Given the description of an element on the screen output the (x, y) to click on. 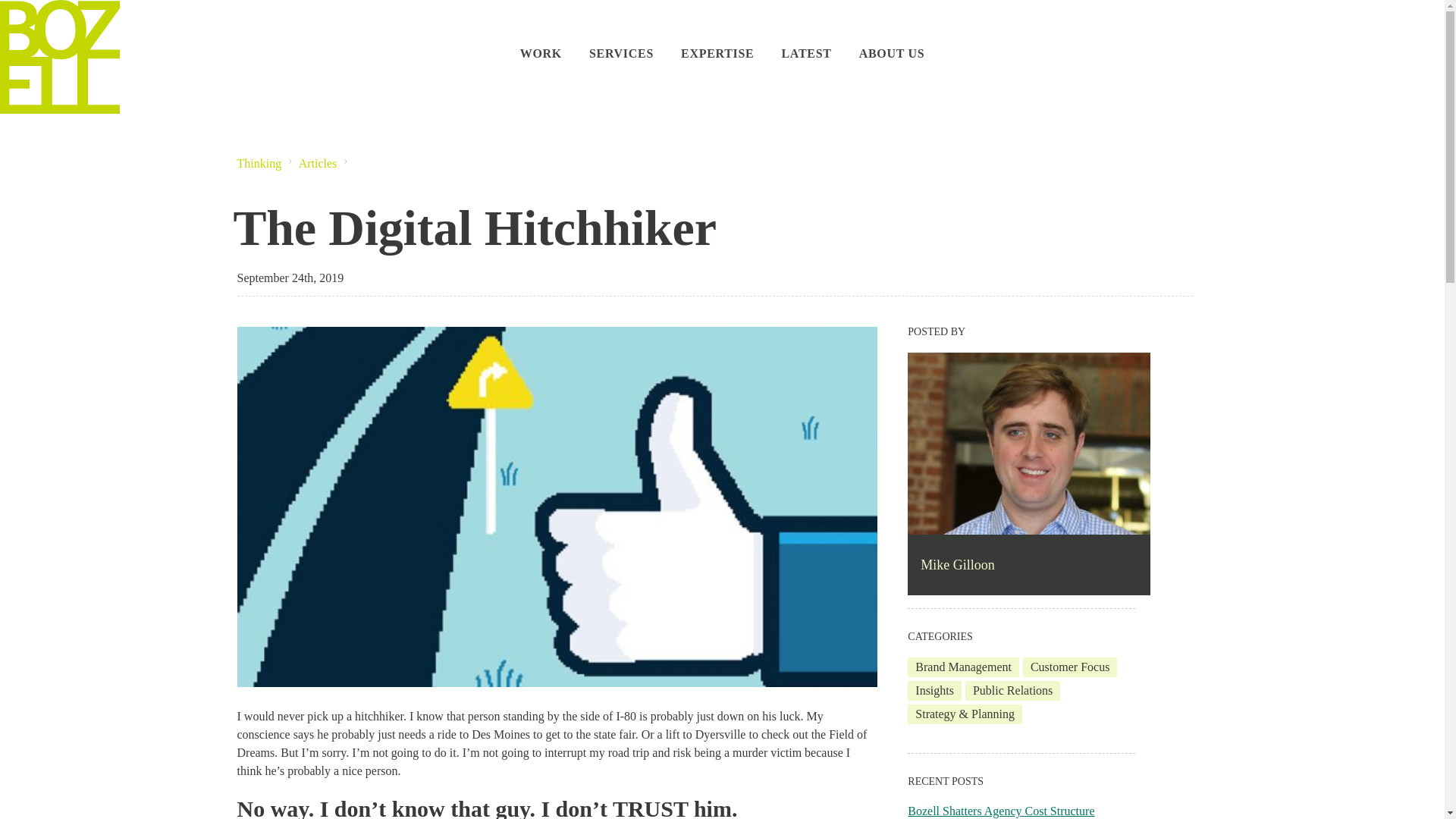
SERVICES (621, 36)
ABOUT US (891, 36)
EXPERTISE (717, 36)
